Given the description of an element on the screen output the (x, y) to click on. 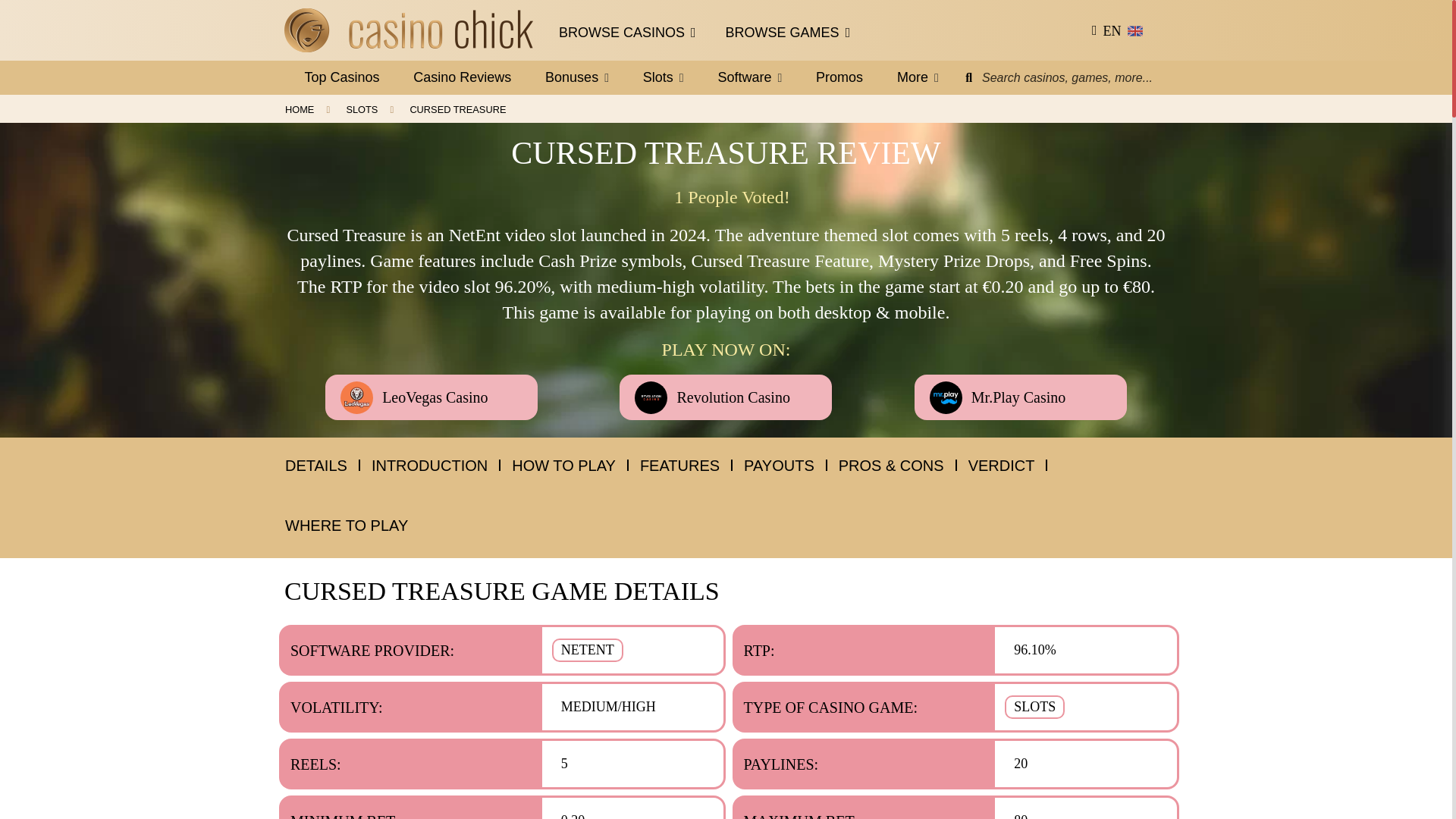
BROWSE GAMES (395, 108)
BROWSE CASINOS (787, 38)
